Given the description of an element on the screen output the (x, y) to click on. 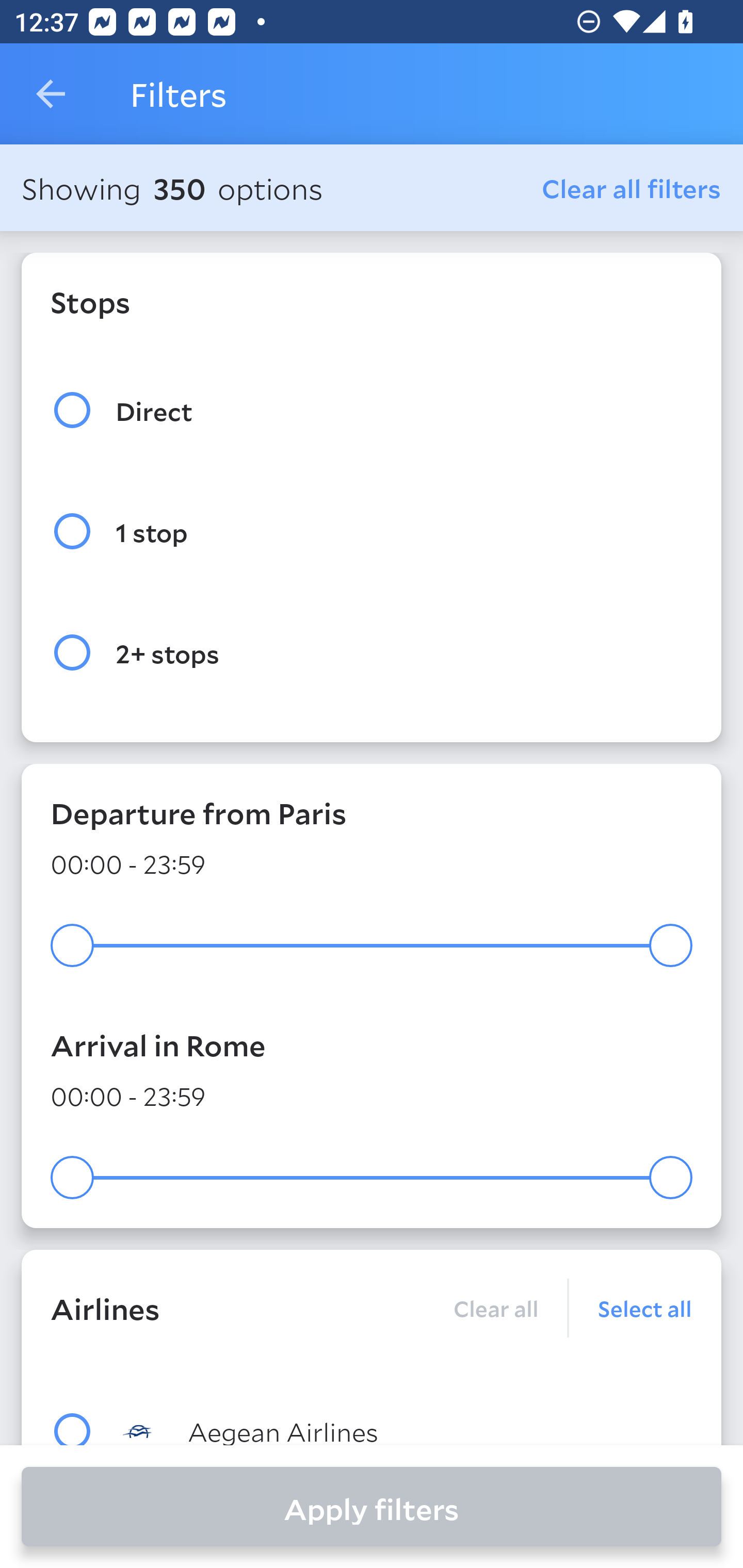
Navigate up (50, 93)
Clear all filters (631, 187)
Direct (371, 409)
1 stop (371, 531)
2+ stops (371, 652)
Clear all (495, 1307)
Select all (630, 1307)
Aegean Airlines (407, 1429)
Apply filters (371, 1506)
